Given the description of an element on the screen output the (x, y) to click on. 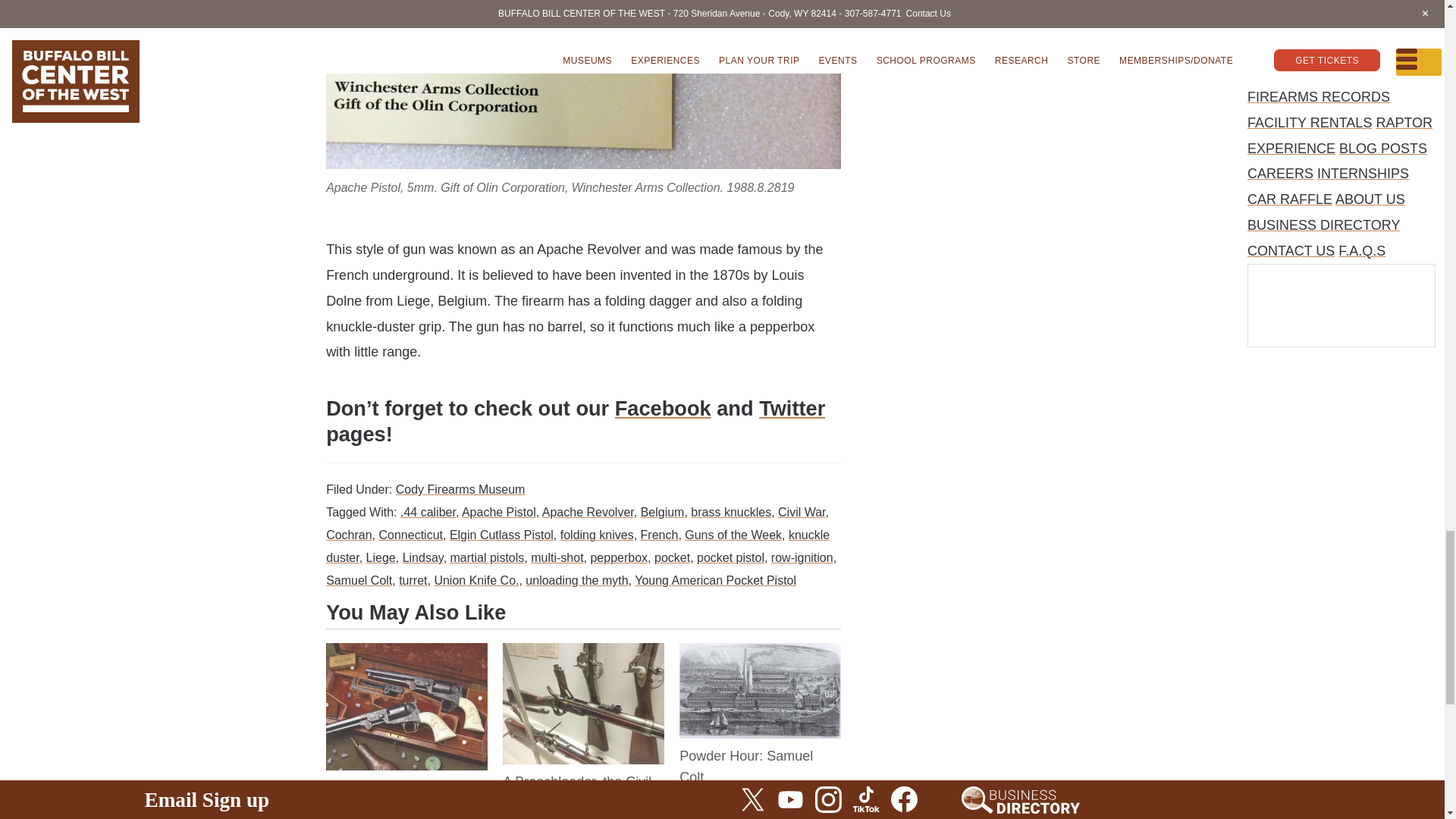
Permanent Link to Powder Hour: Samuel Colt (745, 766)
Cody Firearms Museum Twitter page (791, 408)
Permanent Link to Powder Hour: Samuel Colt (760, 654)
Cody Firearms Museum Facebook page (662, 408)
